Given the description of an element on the screen output the (x, y) to click on. 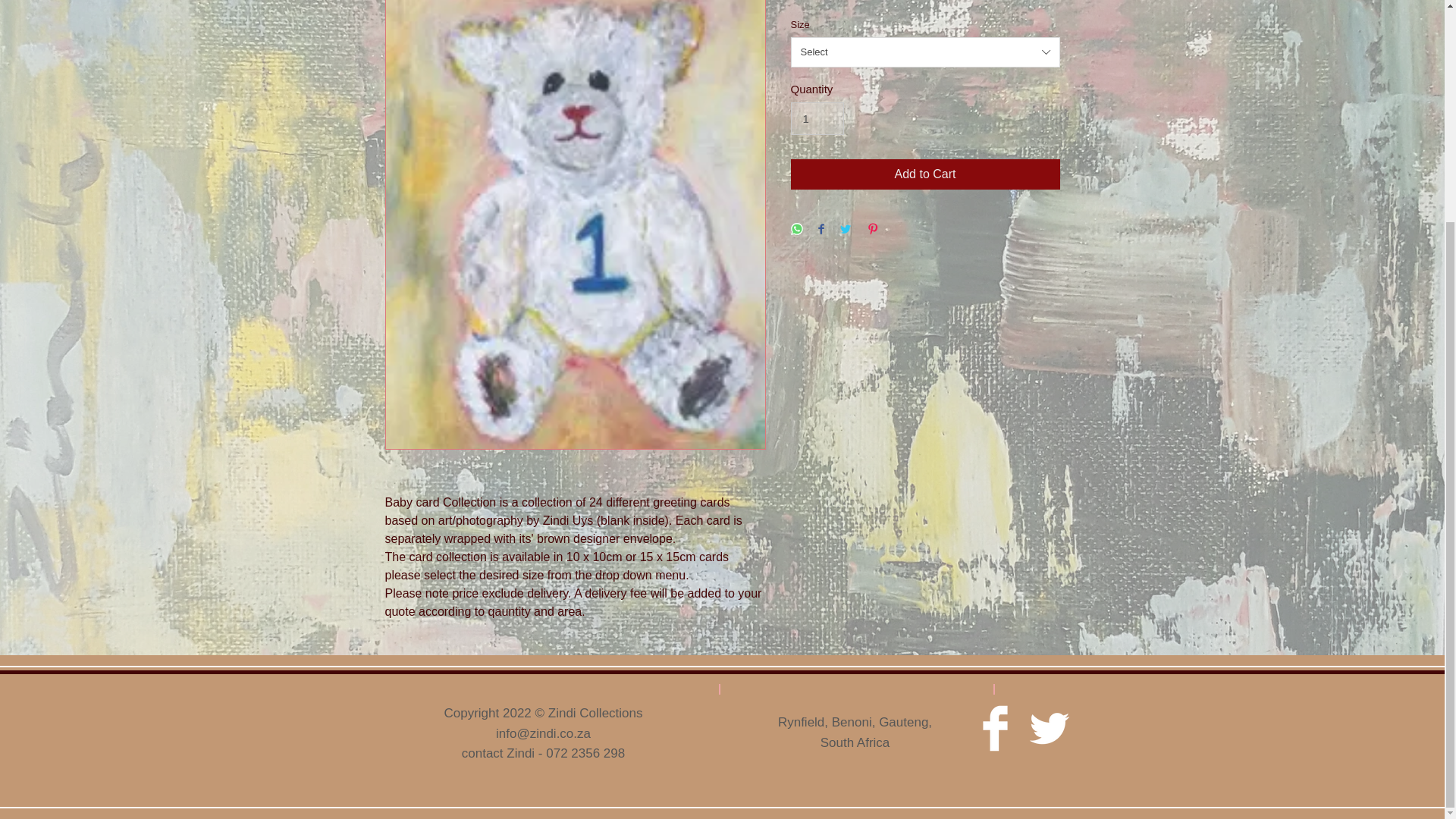
1 (817, 118)
Select (924, 51)
Add to Cart (924, 173)
